Given the description of an element on the screen output the (x, y) to click on. 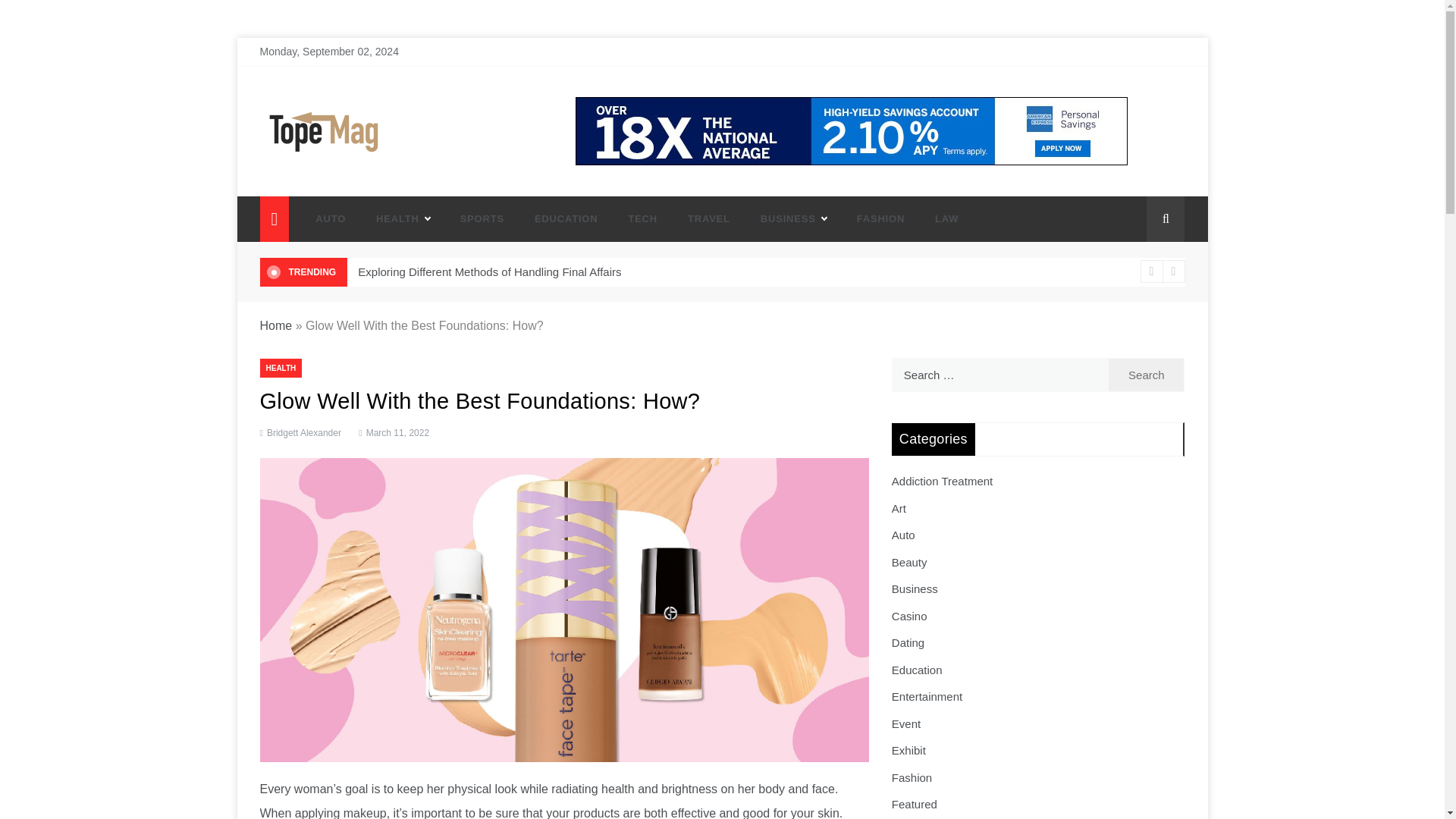
Search (1146, 374)
EDUCATION (565, 218)
HEALTH (403, 218)
TRAVEL (708, 218)
Search (1146, 374)
Tope Mag (308, 176)
FASHION (880, 218)
SPORTS (482, 218)
TECH (642, 218)
